Given the description of an element on the screen output the (x, y) to click on. 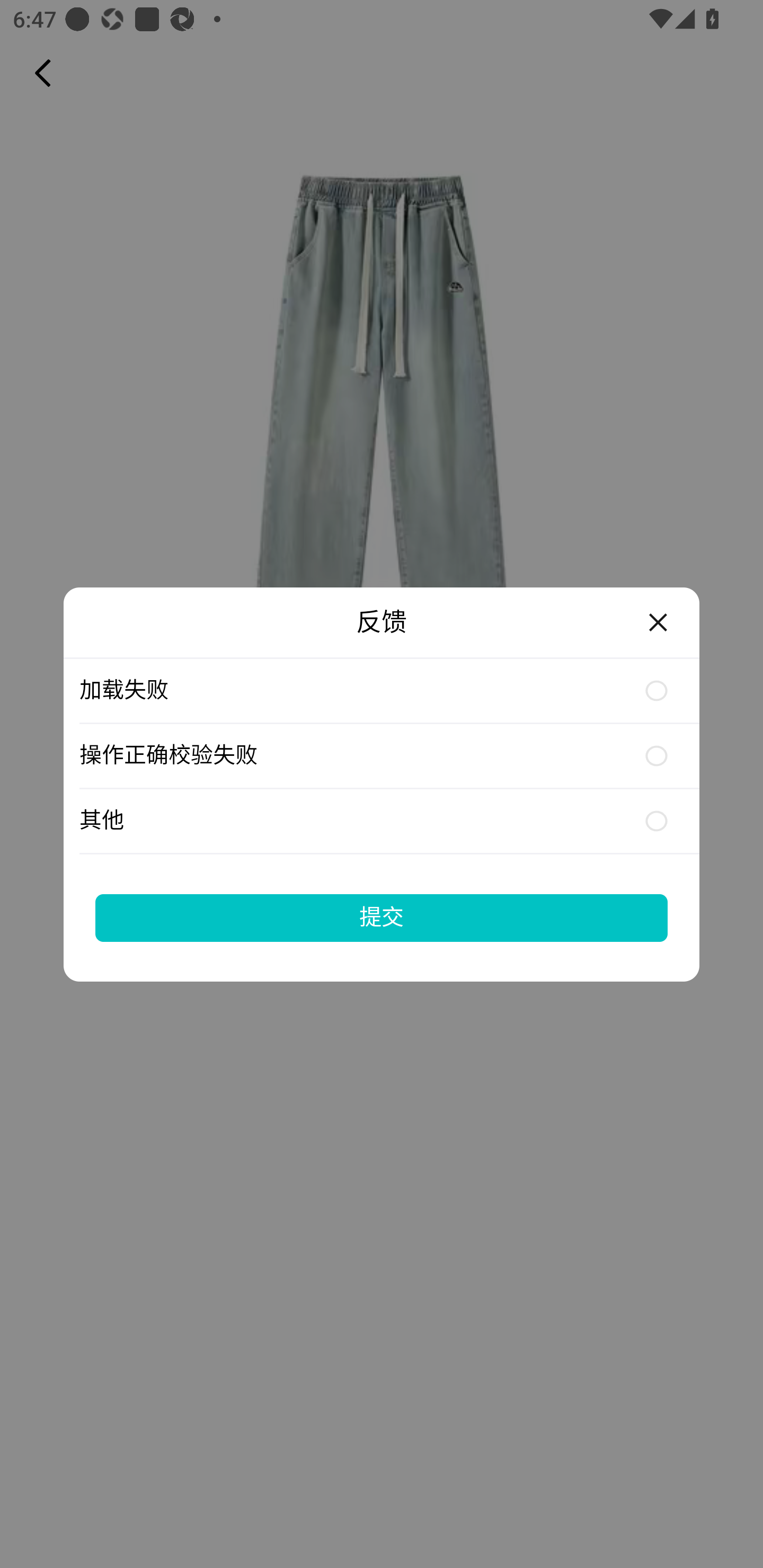
提交 (381, 917)
